Given the description of an element on the screen output the (x, y) to click on. 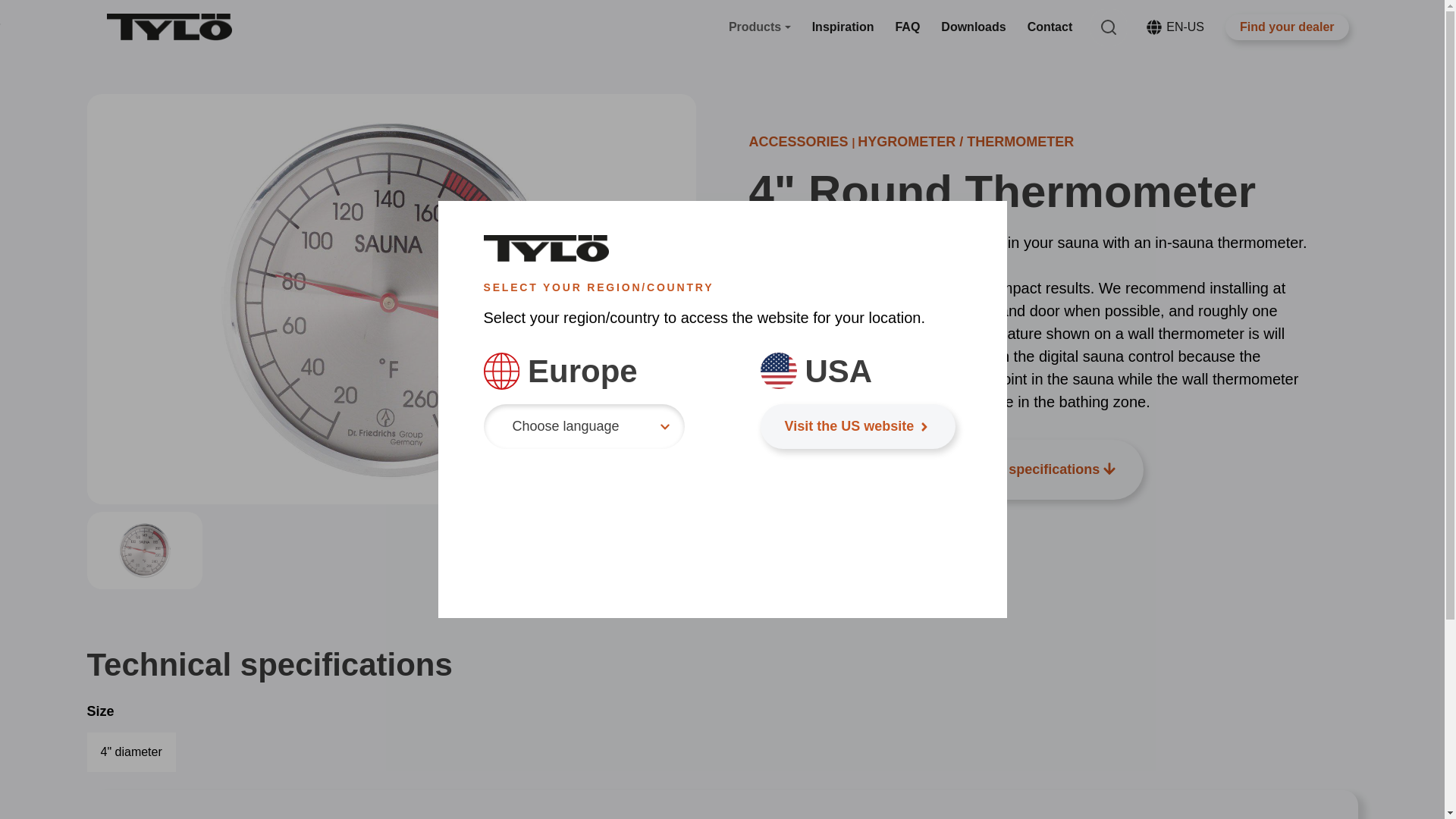
Products (759, 27)
Find your dealer (826, 469)
Change language (1154, 27)
Visit the US website (857, 426)
Find your dealer (1286, 27)
Contact (1049, 27)
Technical specifications (1031, 469)
Downloads (973, 27)
Choose language (583, 426)
Inspiration (843, 27)
